Given the description of an element on the screen output the (x, y) to click on. 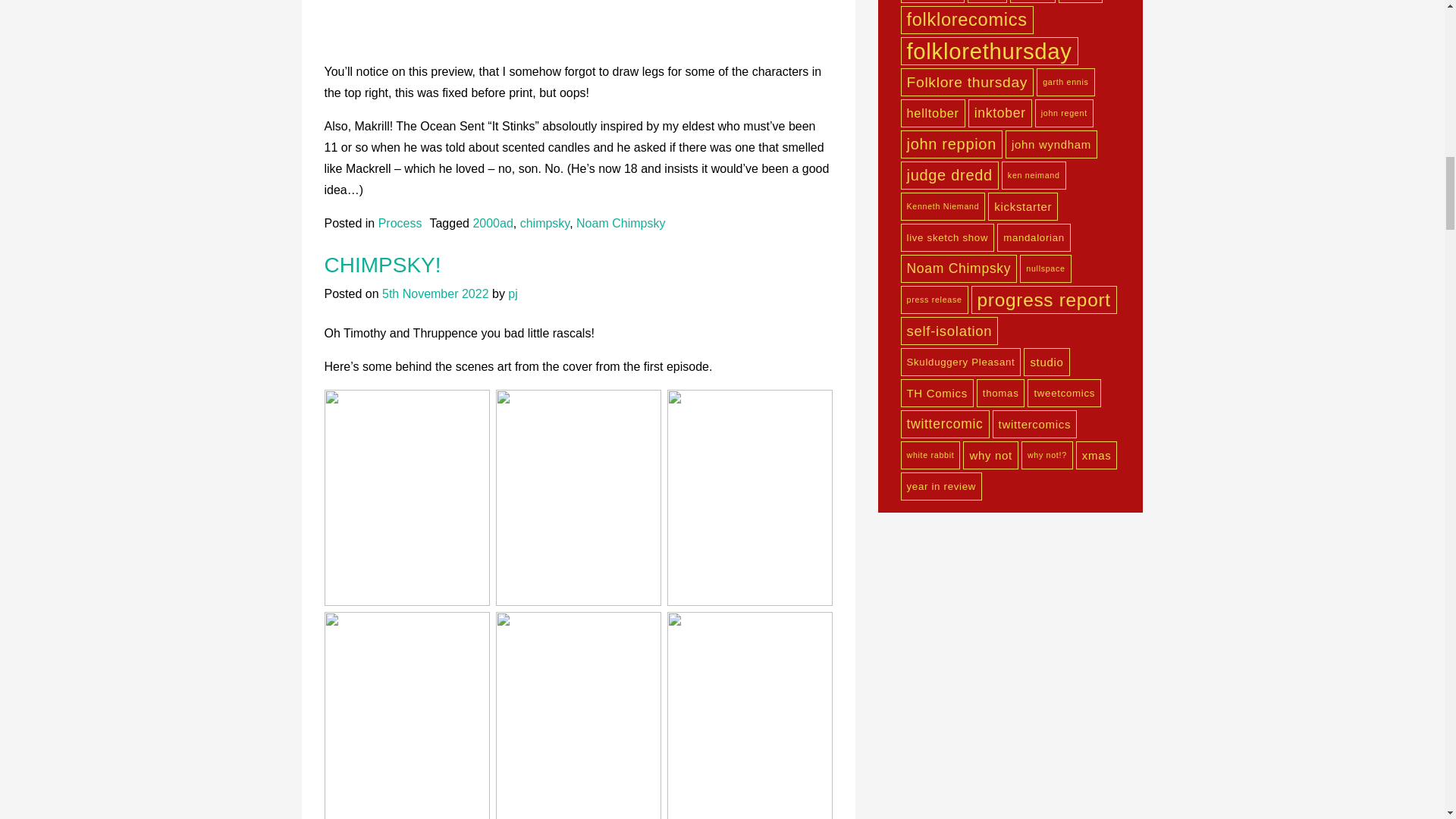
2000ad (491, 223)
CHIMPSKY! (382, 264)
chimpsky (544, 223)
5th November 2022 (435, 293)
Noam Chimpsky (620, 223)
Process (400, 223)
